Given the description of an element on the screen output the (x, y) to click on. 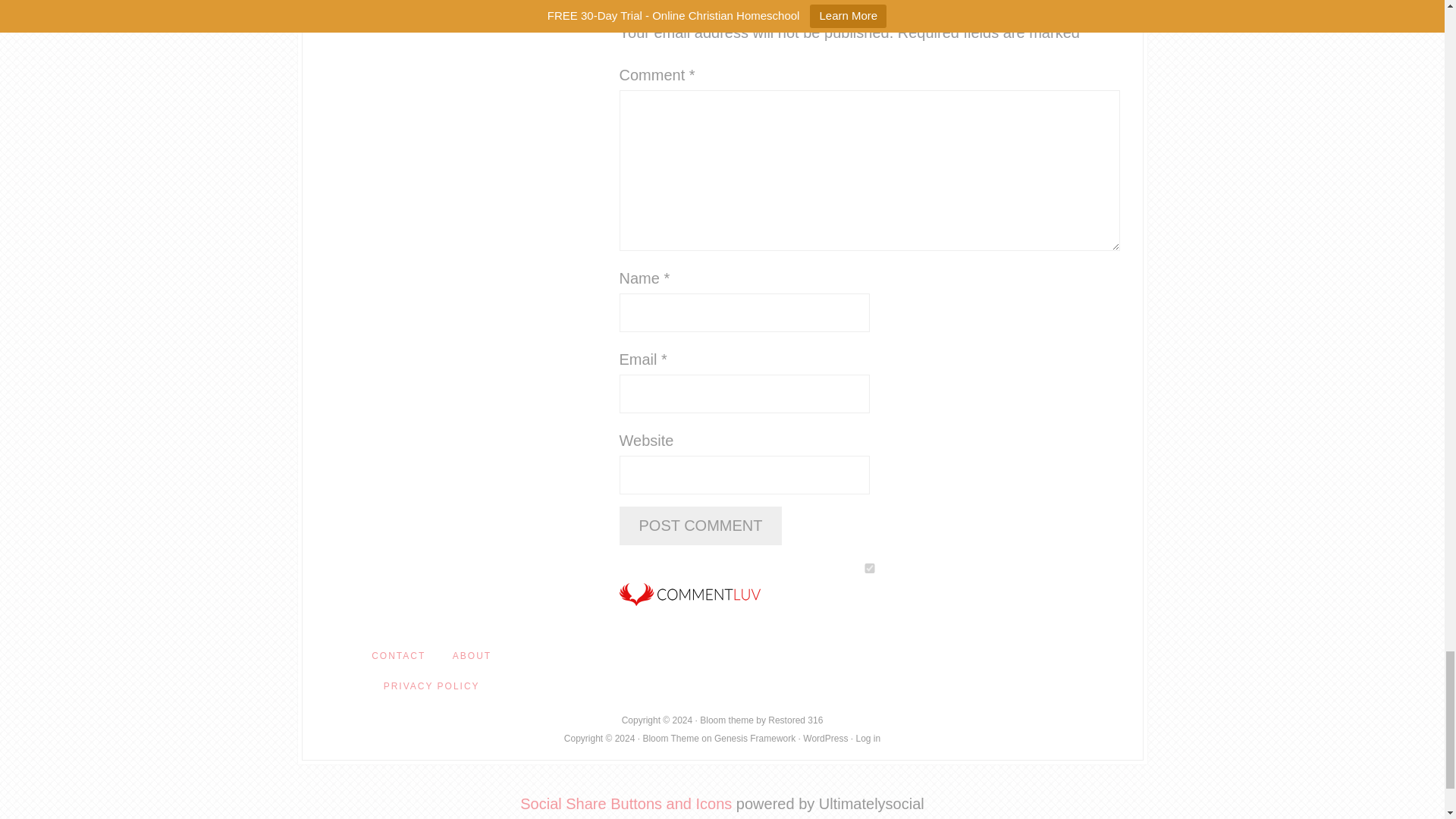
Post Comment (699, 525)
Post Comment (699, 525)
on (868, 568)
